Given the description of an element on the screen output the (x, y) to click on. 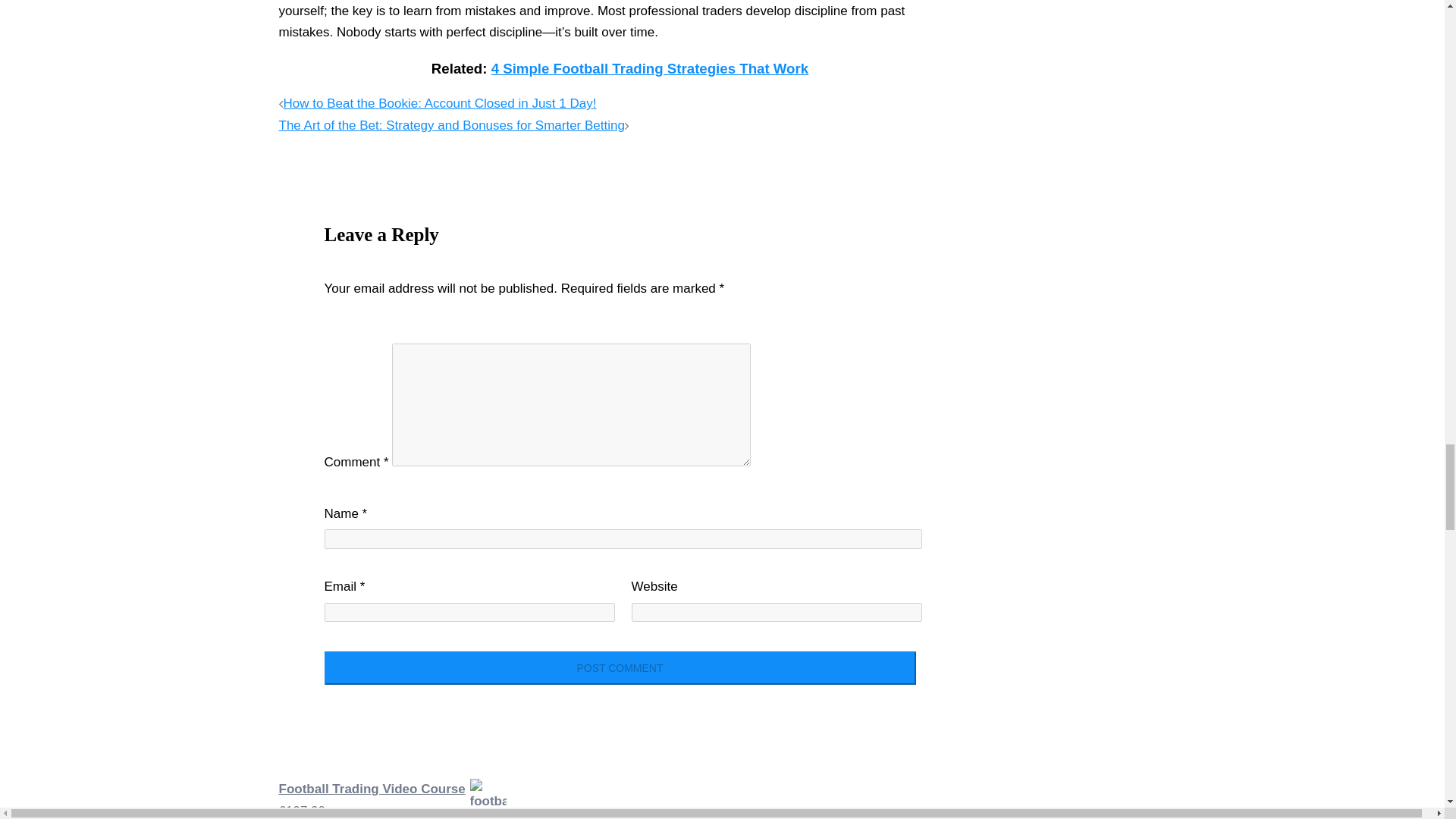
Post Comment (619, 667)
